Given the description of an element on the screen output the (x, y) to click on. 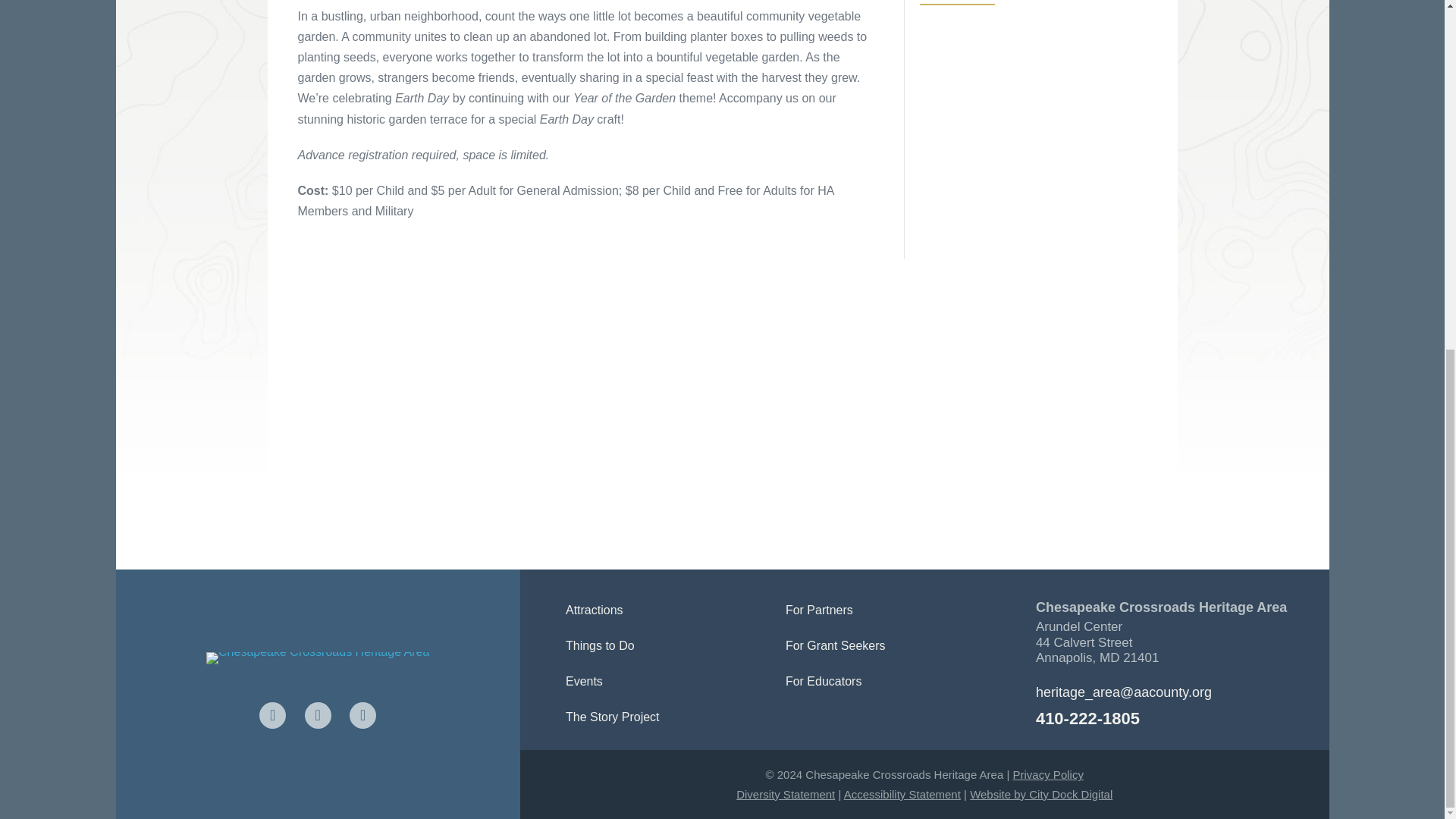
ccha-logo-footer (317, 657)
